Given the description of an element on the screen output the (x, y) to click on. 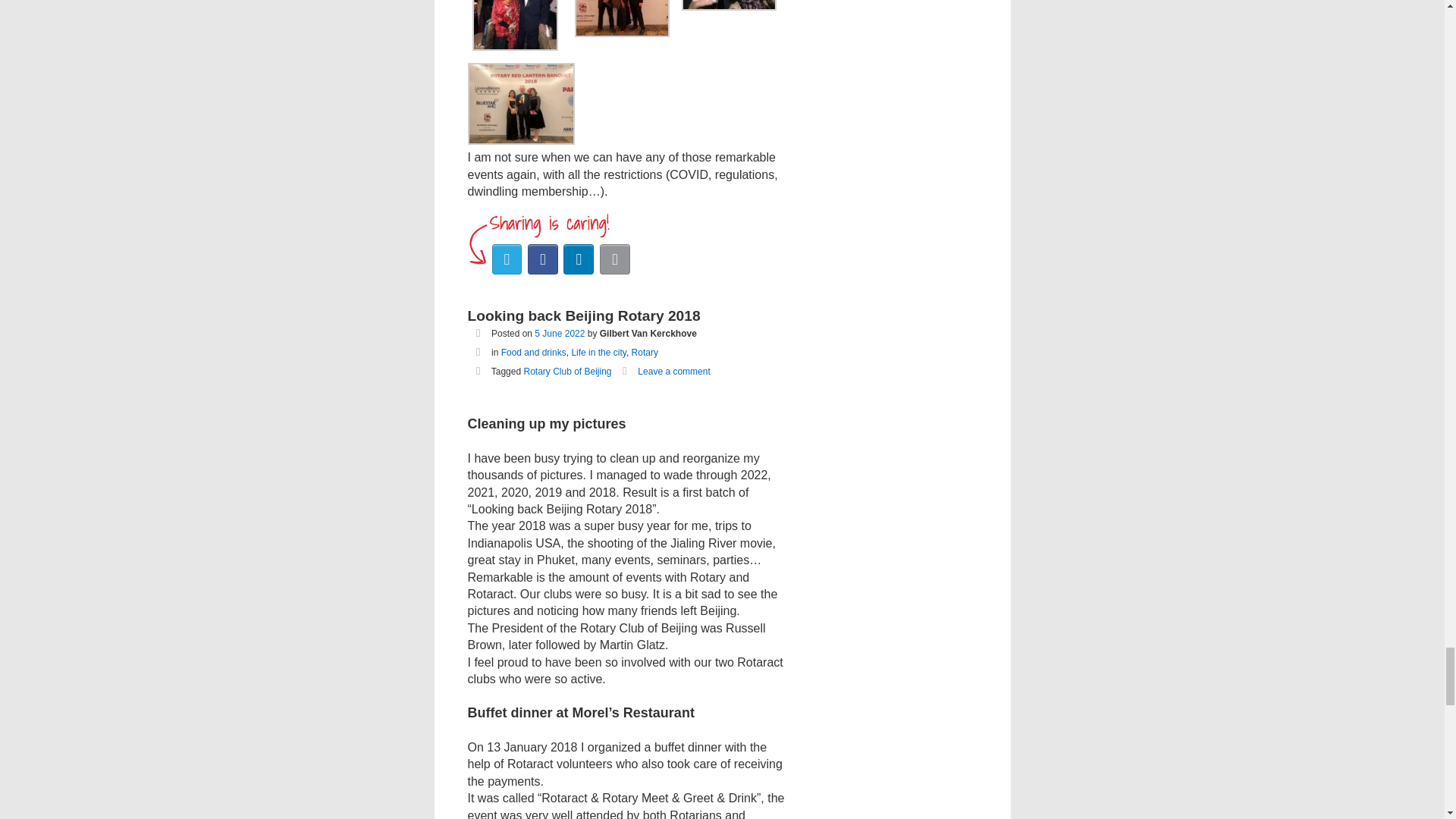
Share on Facebook (542, 259)
Tweet this article (506, 259)
Share on LinkedIn (578, 259)
